Given the description of an element on the screen output the (x, y) to click on. 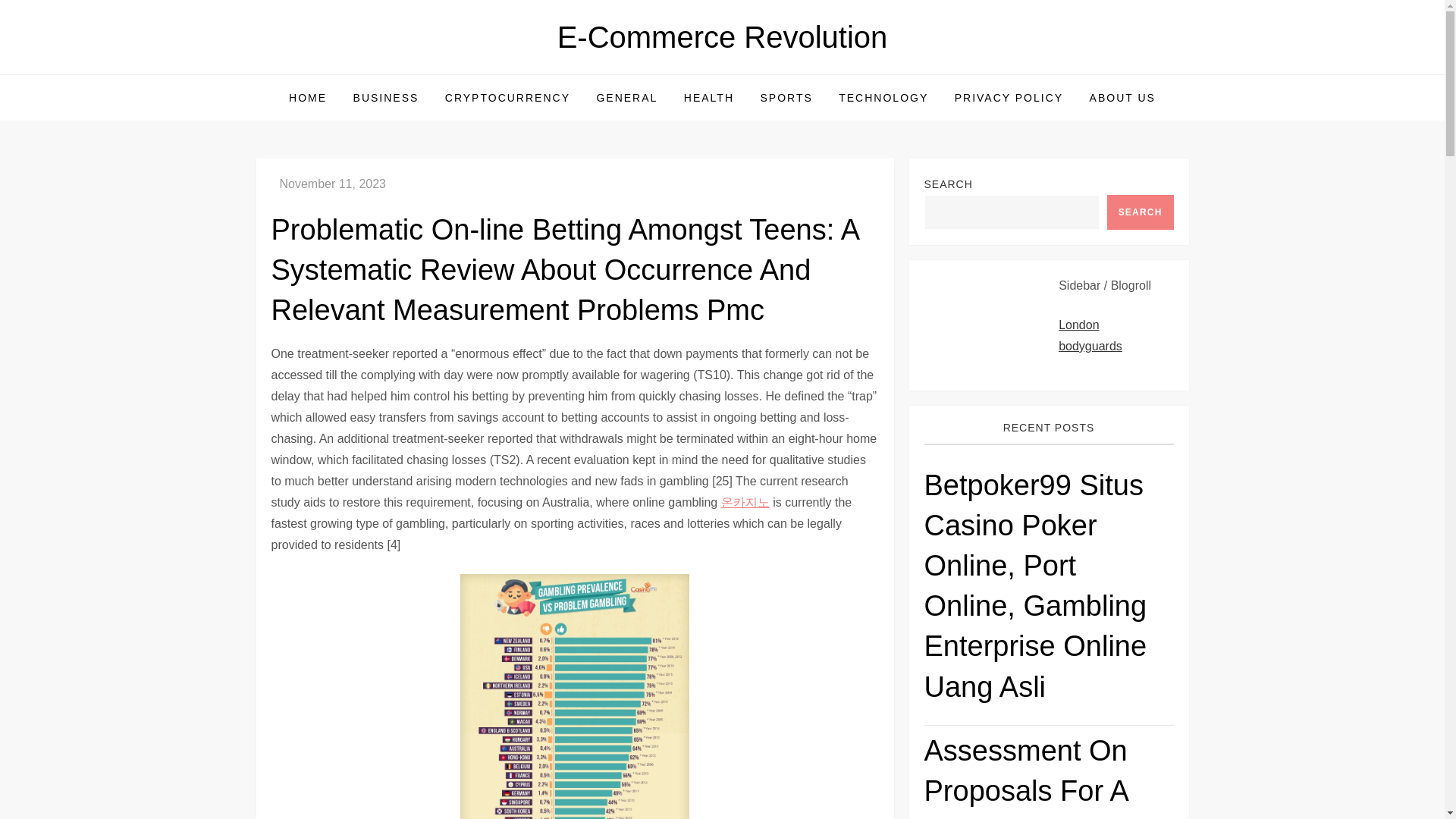
CRYPTOCURRENCY (506, 97)
E-Commerce Revolution (722, 37)
PRIVACY POLICY (1008, 97)
SEARCH (1139, 212)
TECHNOLOGY (883, 97)
GENERAL (626, 97)
HEALTH (708, 97)
HOME (307, 97)
ABOUT US (1122, 97)
London bodyguards (1090, 335)
BUSINESS (386, 97)
SPORTS (786, 97)
November 11, 2023 (332, 183)
